Given the description of an element on the screen output the (x, y) to click on. 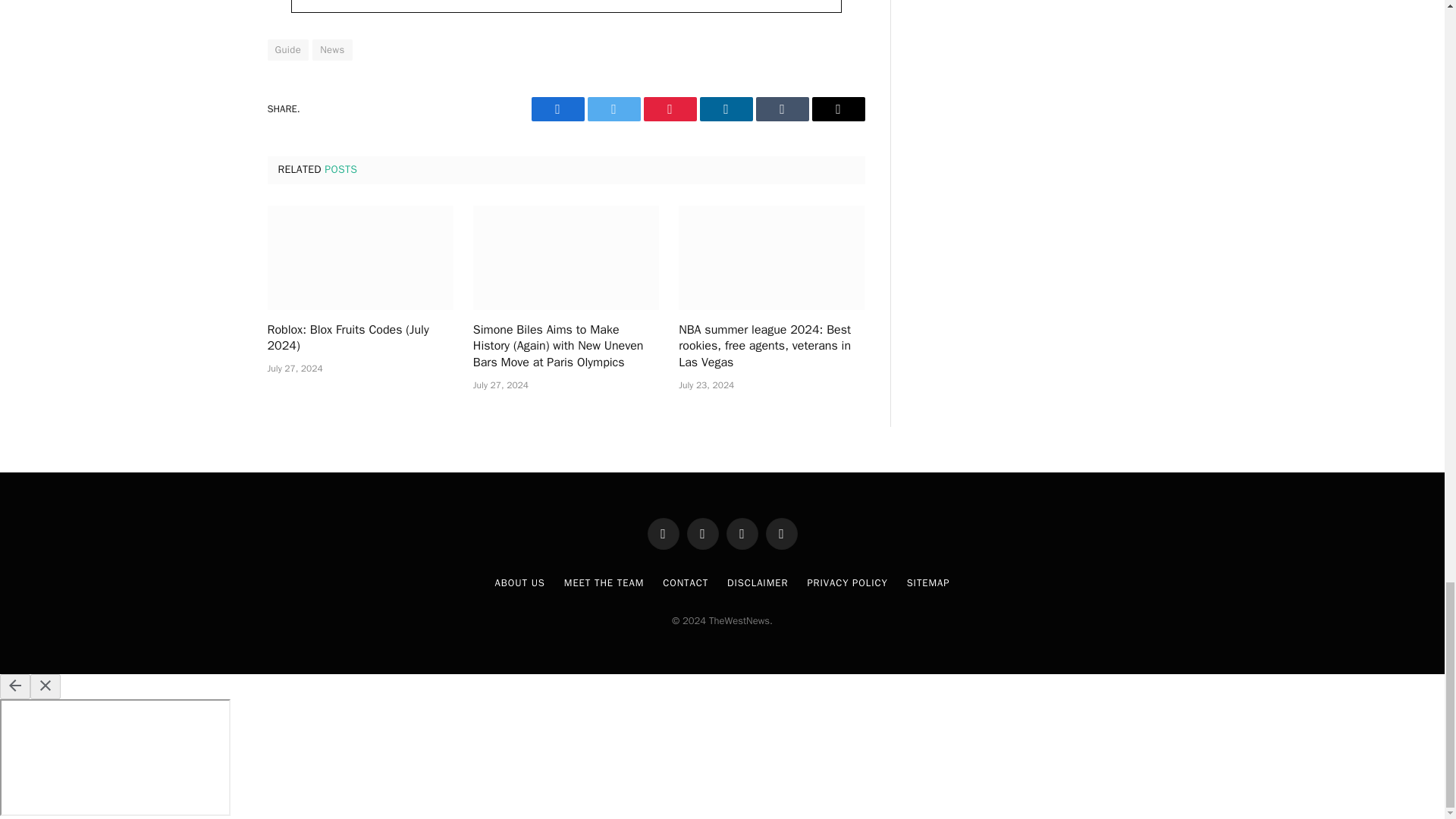
Guide (287, 49)
